Given the description of an element on the screen output the (x, y) to click on. 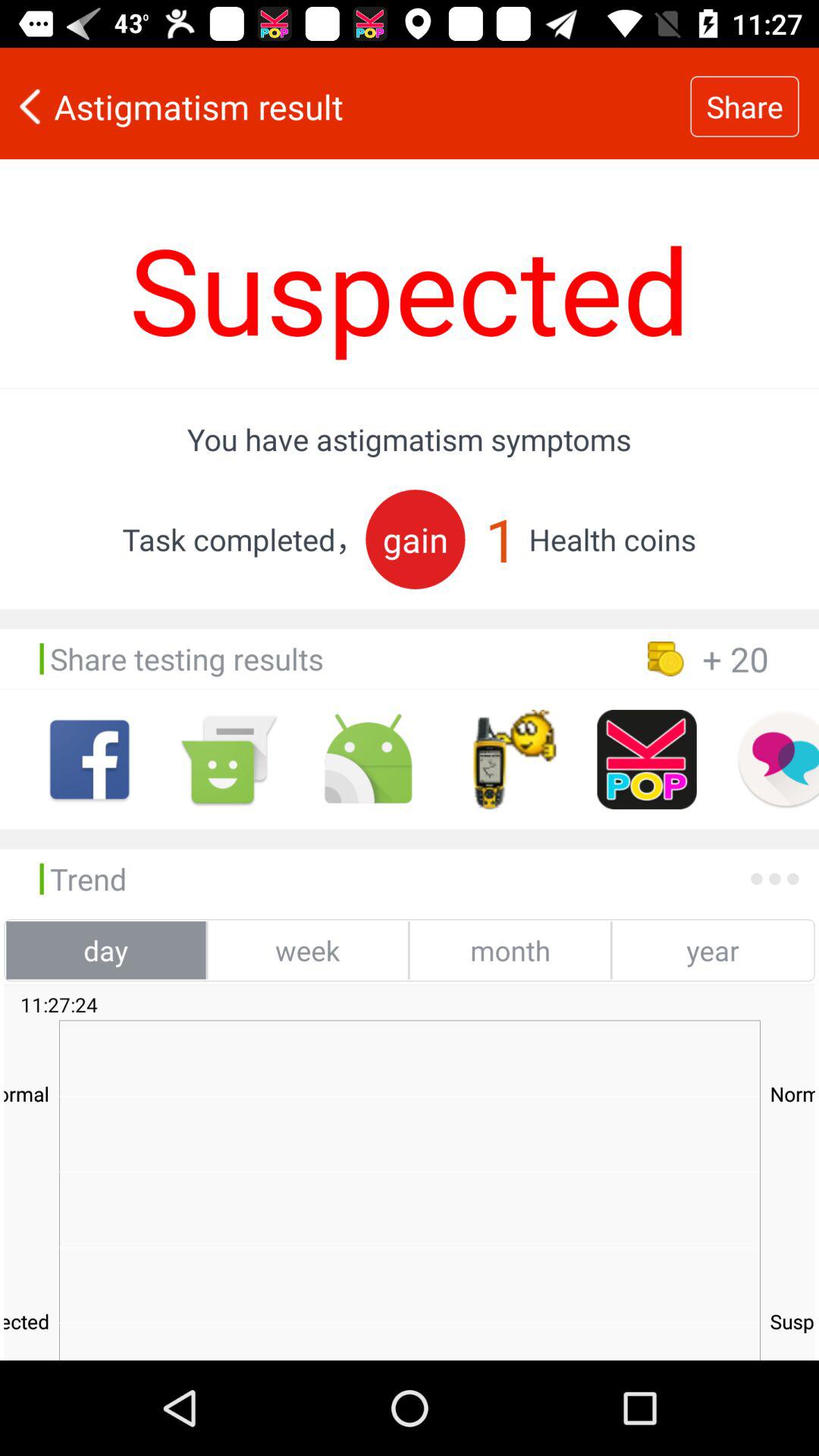
swipe to the day icon (105, 950)
